Given the description of an element on the screen output the (x, y) to click on. 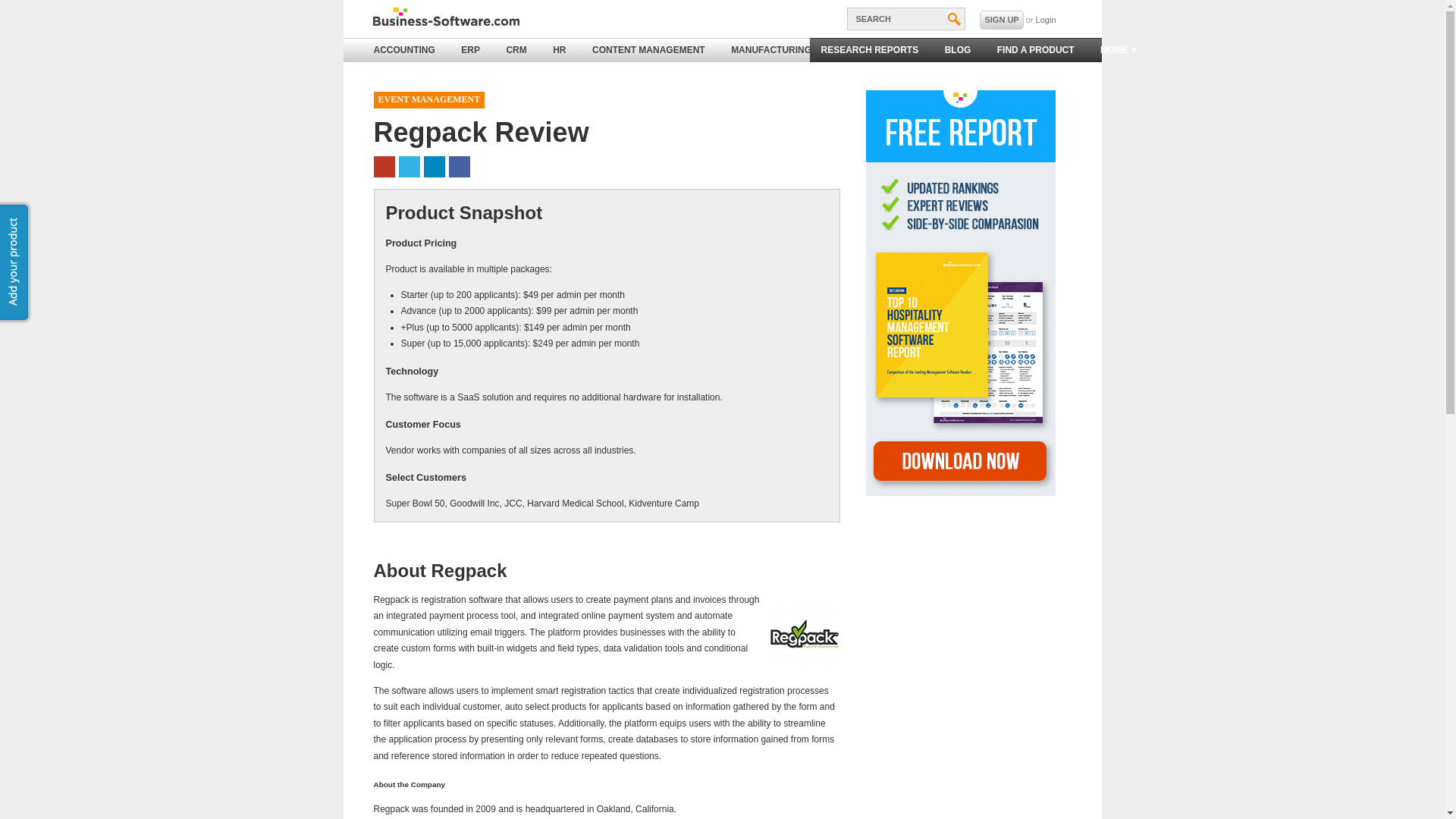
HR (558, 49)
SEARCH (906, 18)
LOGIN (1046, 19)
Login (1046, 19)
CONTENT MANAGEMENT (648, 49)
RESEARCH REPORTS (869, 49)
SIGN UP (1001, 19)
Regpack (804, 633)
ERP (470, 49)
CRM (516, 49)
